Given the description of an element on the screen output the (x, y) to click on. 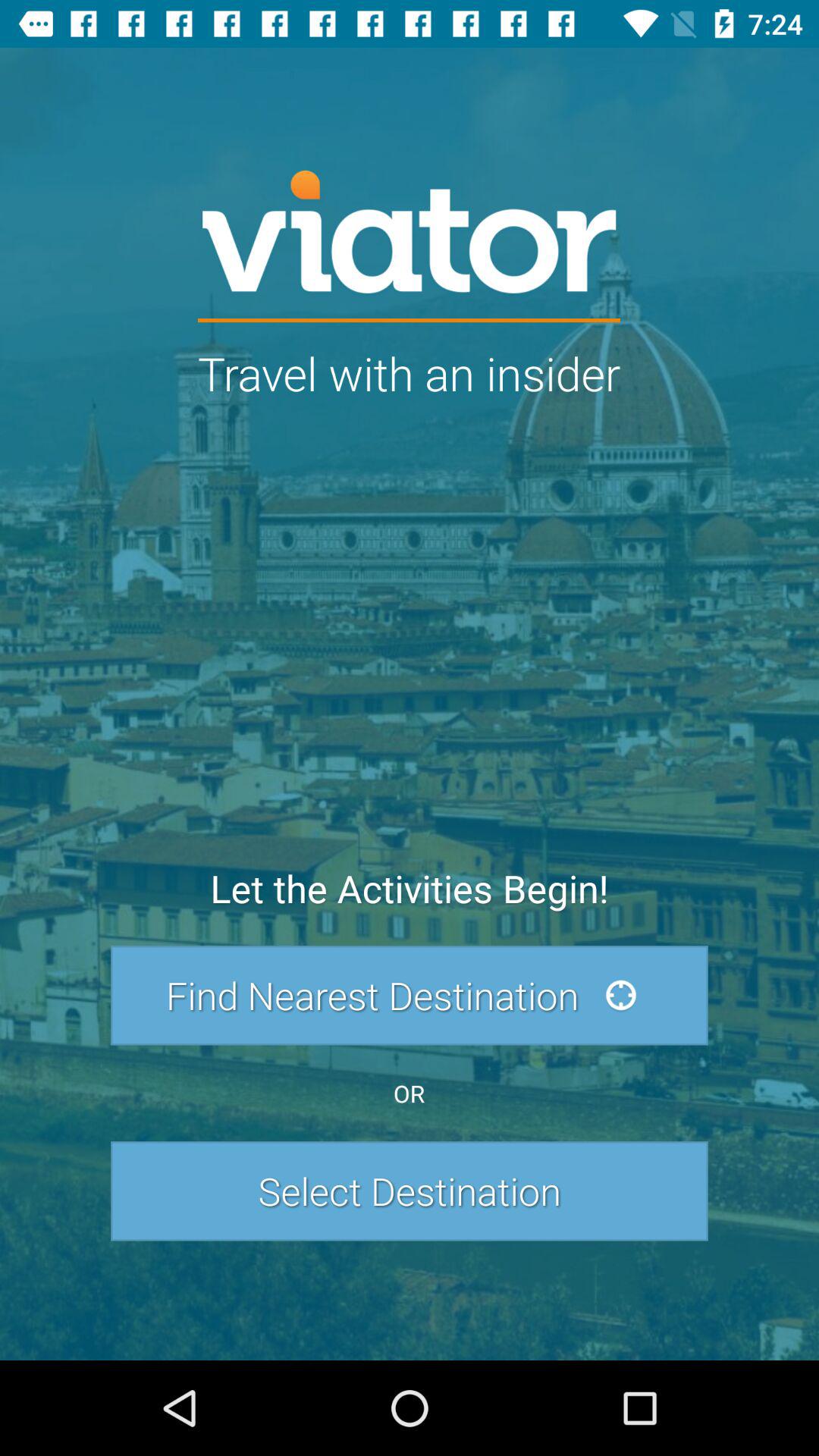
swipe until the select destination (409, 1191)
